Given the description of an element on the screen output the (x, y) to click on. 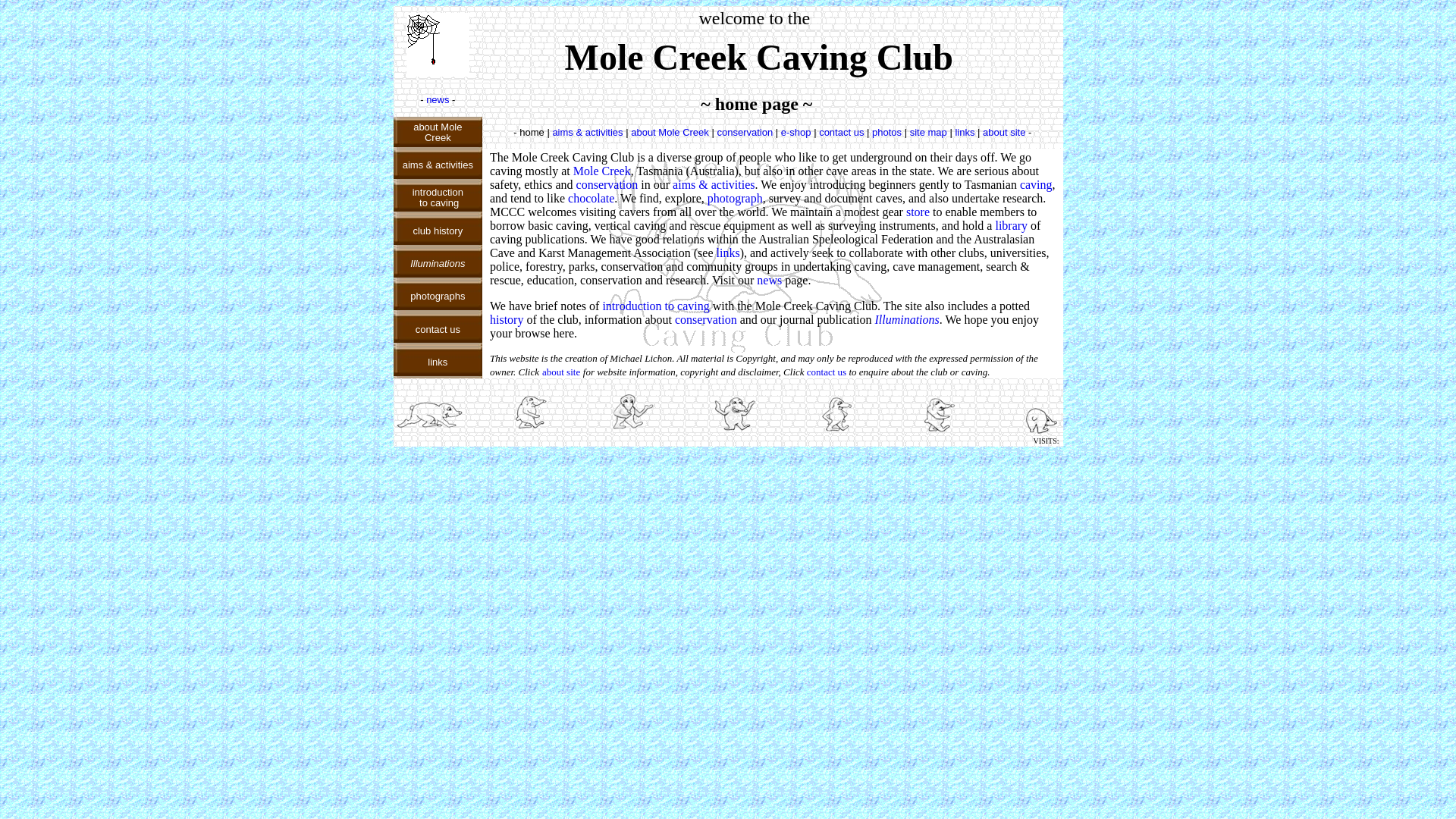
conservation Element type: text (607, 184)
photographs Element type: text (437, 294)
conservation Element type: text (744, 131)
contact us Element type: text (841, 131)
history Element type: text (506, 319)
photograph Element type: text (734, 197)
home Element type: text (531, 131)
photos Element type: text (886, 131)
aims & activities Element type: text (587, 131)
about Mole
Creek Element type: text (437, 131)
aims & activities Element type: text (713, 184)
about site Element type: text (1003, 131)
e-shop Element type: text (796, 131)
about Mole Creek Element type: text (669, 131)
links Element type: text (437, 360)
introduction
 to caving Element type: text (437, 196)
Mole Creek Element type: text (601, 170)
aims & activities Element type: text (437, 163)
news Element type: text (437, 99)
store Element type: text (917, 211)
conservation Element type: text (705, 319)
contact us Element type: text (437, 328)
Illuminations Element type: text (437, 262)
news Element type: text (768, 279)
introduction to caving Element type: text (655, 305)
club history Element type: text (437, 229)
chocolate Element type: text (590, 197)
Illuminations Element type: text (906, 319)
site map Element type: text (928, 131)
links Element type: text (964, 131)
caving Element type: text (1035, 184)
links Element type: text (728, 252)
contact us Element type: text (826, 370)
about site Element type: text (561, 370)
library Element type: text (1010, 225)
